Given the description of an element on the screen output the (x, y) to click on. 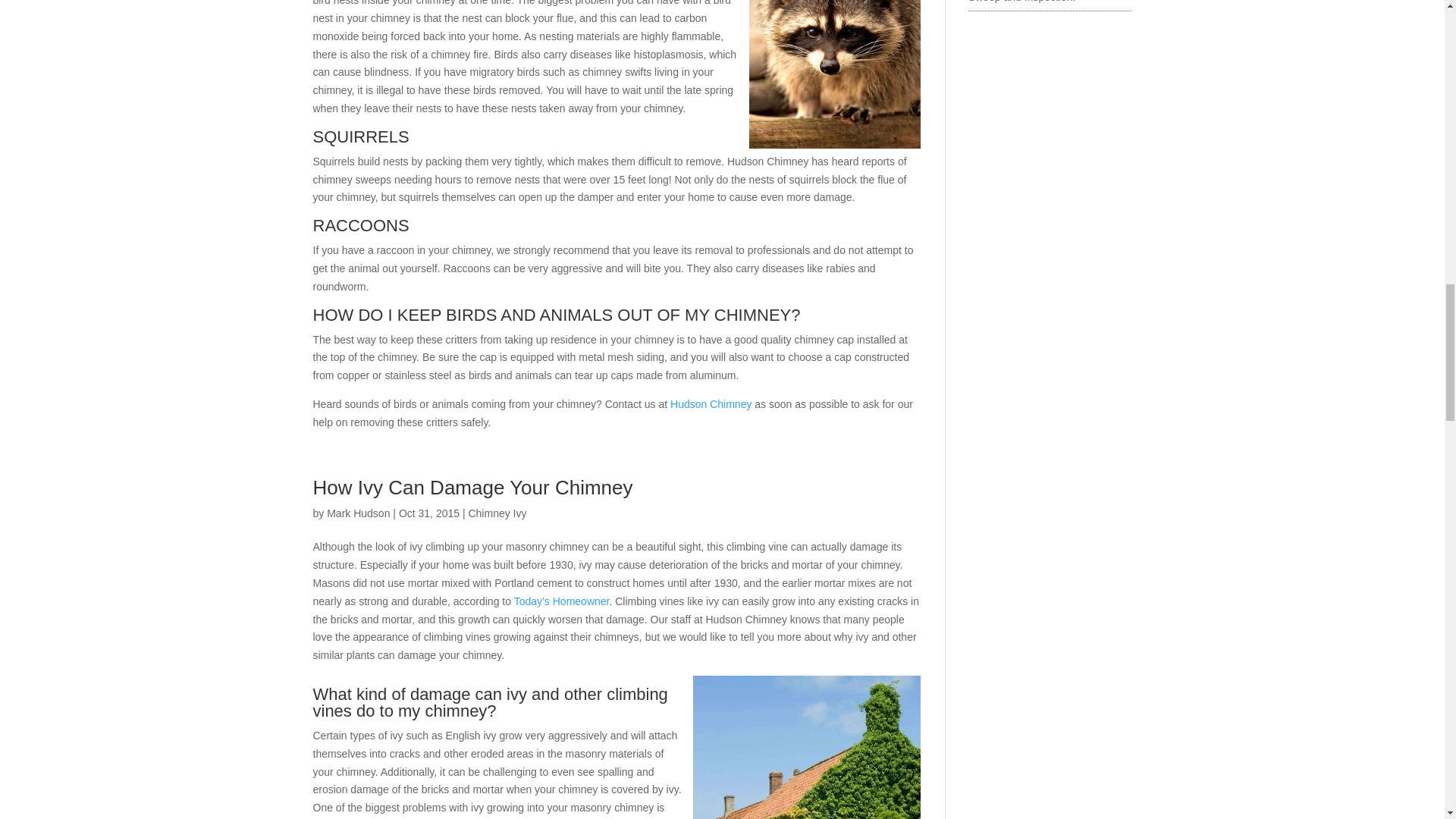
How Ivy Can Damage Your Chimney (472, 486)
Hudson Chimney (710, 404)
Mark Hudson (358, 512)
Posts by Mark Hudson (358, 512)
Chimney Ivy (496, 512)
